Given the description of an element on the screen output the (x, y) to click on. 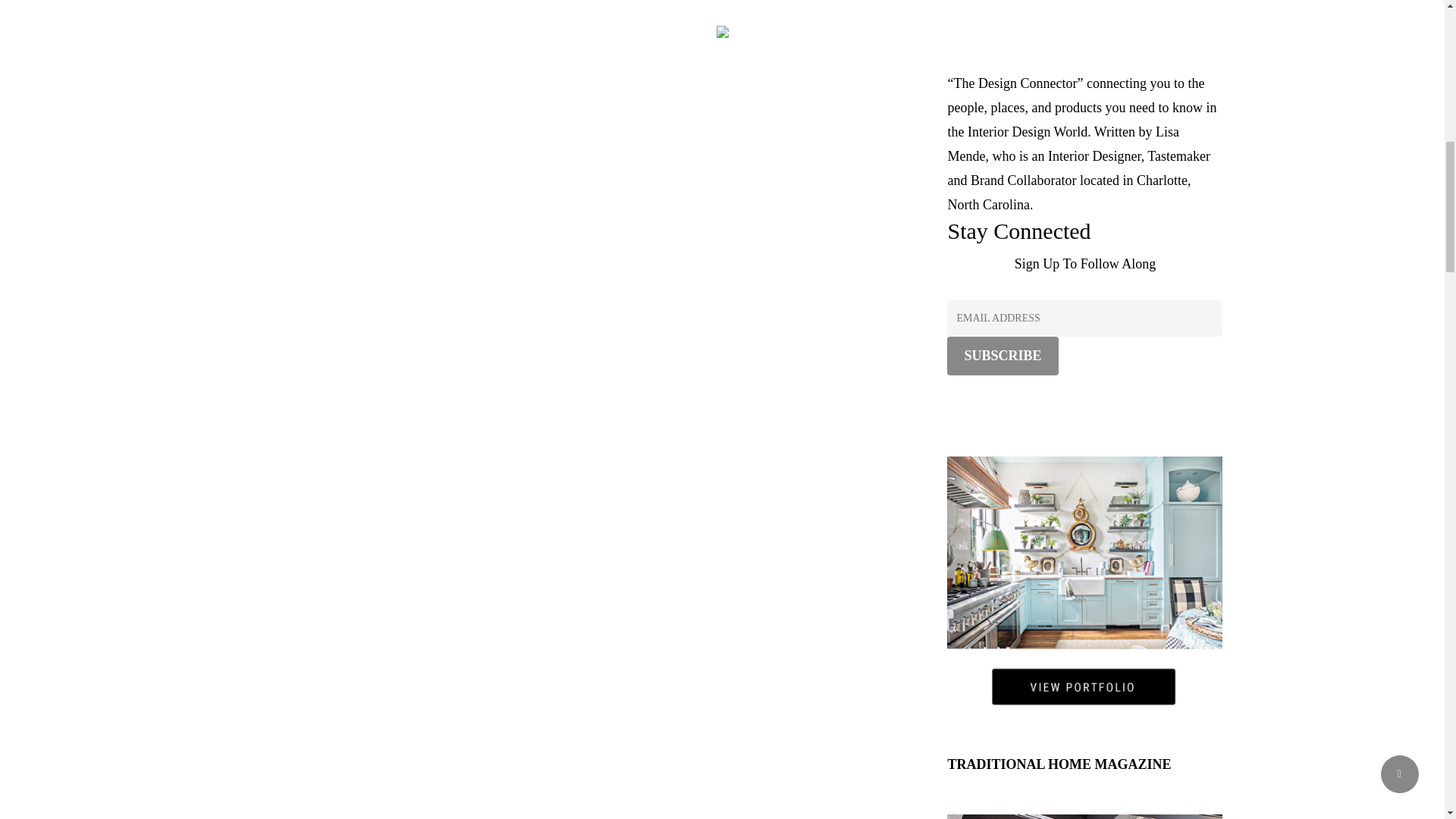
SUBSCRIBE (1002, 355)
SUBSCRIBE (1002, 355)
